Given the description of an element on the screen output the (x, y) to click on. 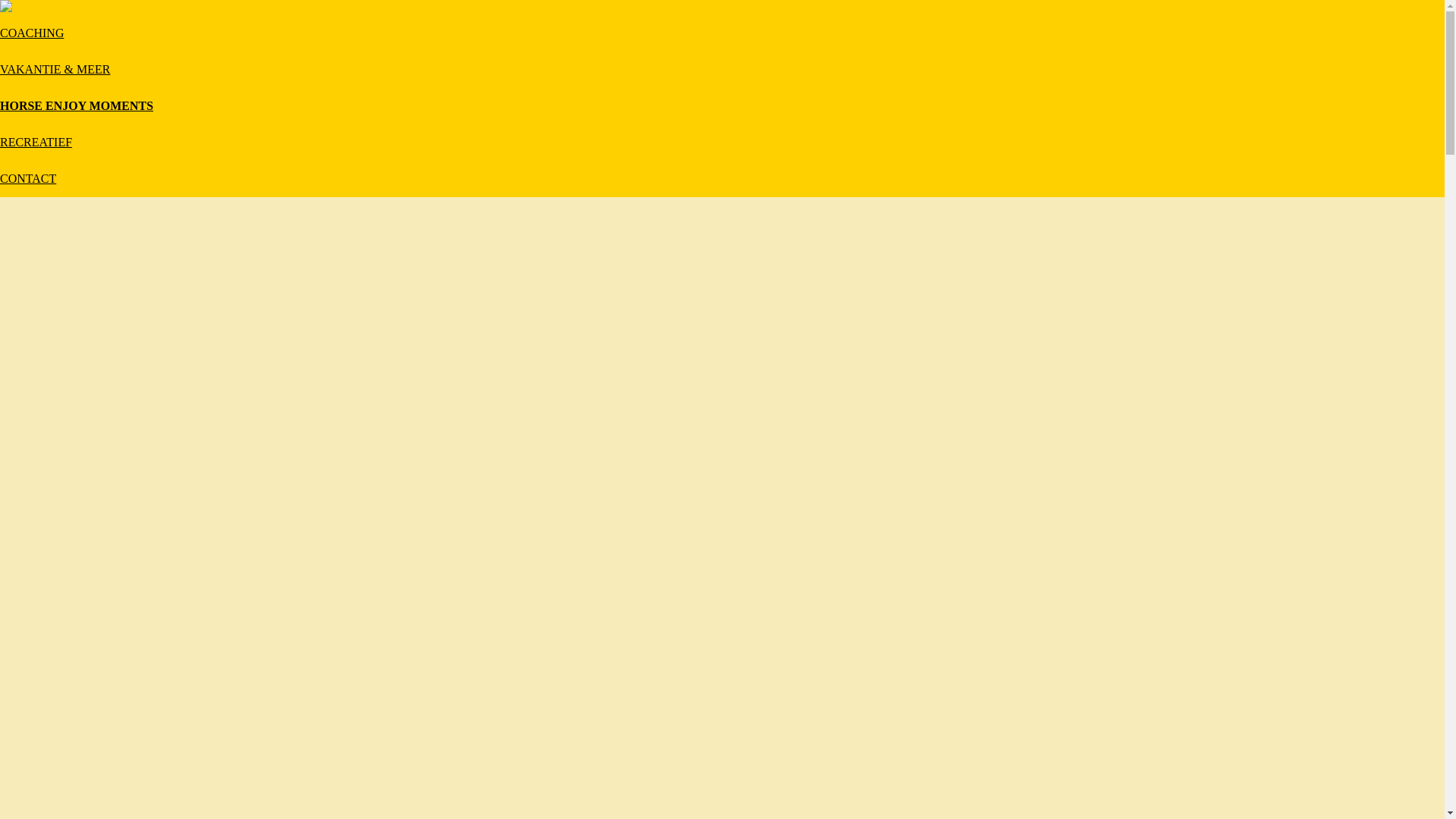
VAKANTIE & MEER Element type: text (54, 68)
RECREATIEF Element type: text (36, 141)
COACHING Element type: text (31, 32)
HORSE ENJOY MOMENTS Element type: text (76, 105)
CONTACT Element type: text (28, 178)
